Given the description of an element on the screen output the (x, y) to click on. 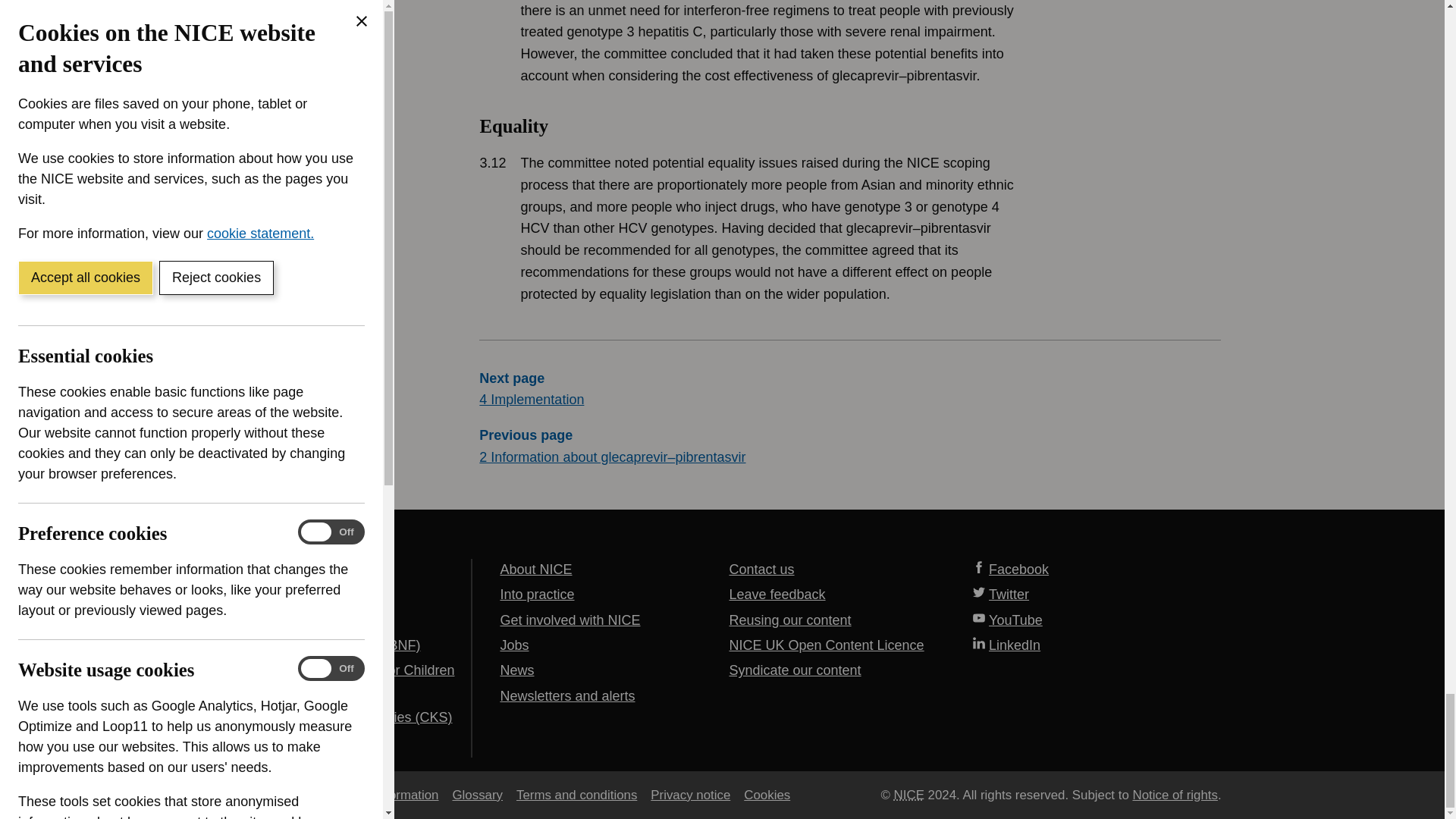
Innovation (850, 43)
National Institute for Health and Care Excellence (908, 794)
